Given the description of an element on the screen output the (x, y) to click on. 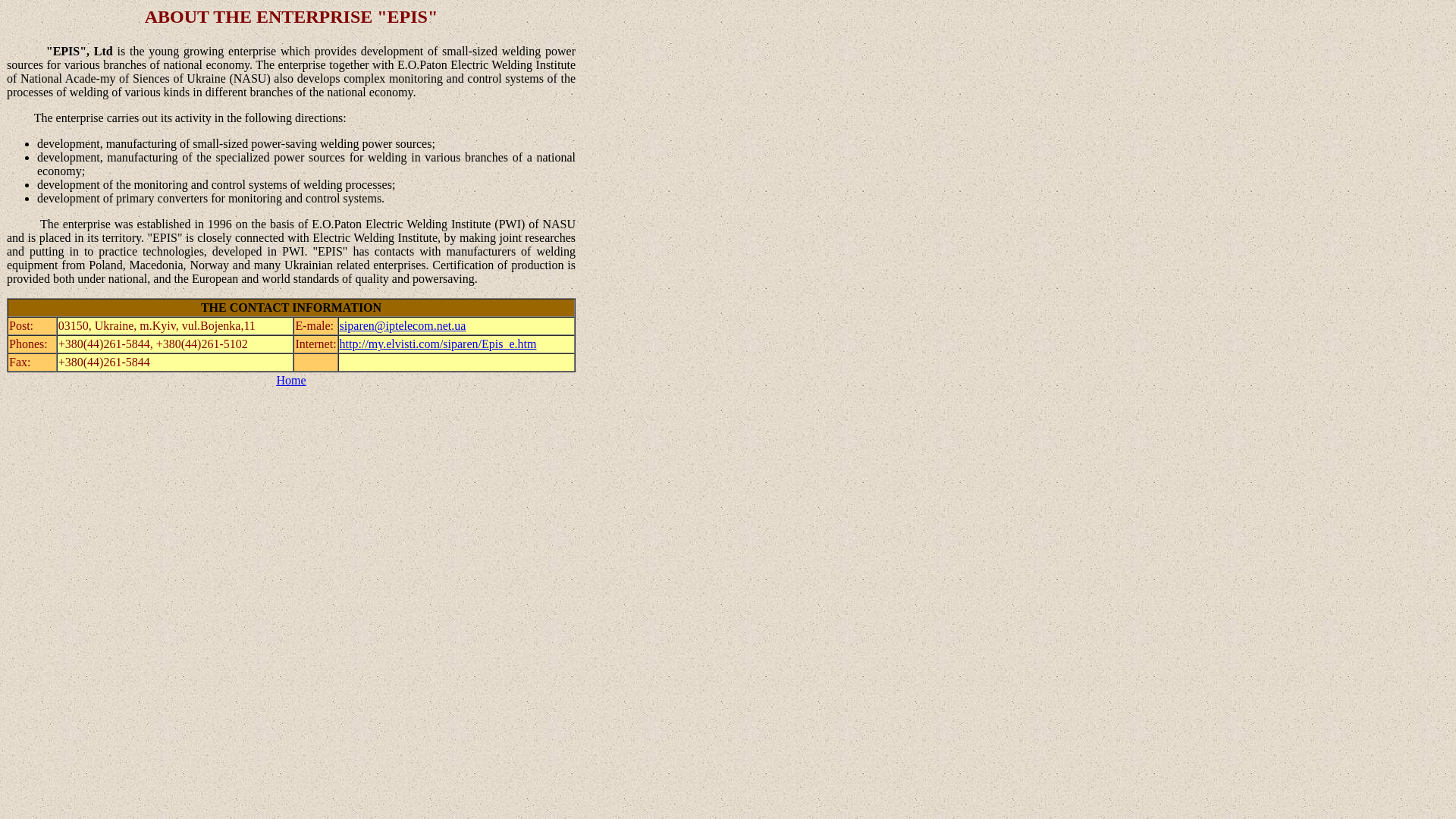
Home (290, 379)
